Given the description of an element on the screen output the (x, y) to click on. 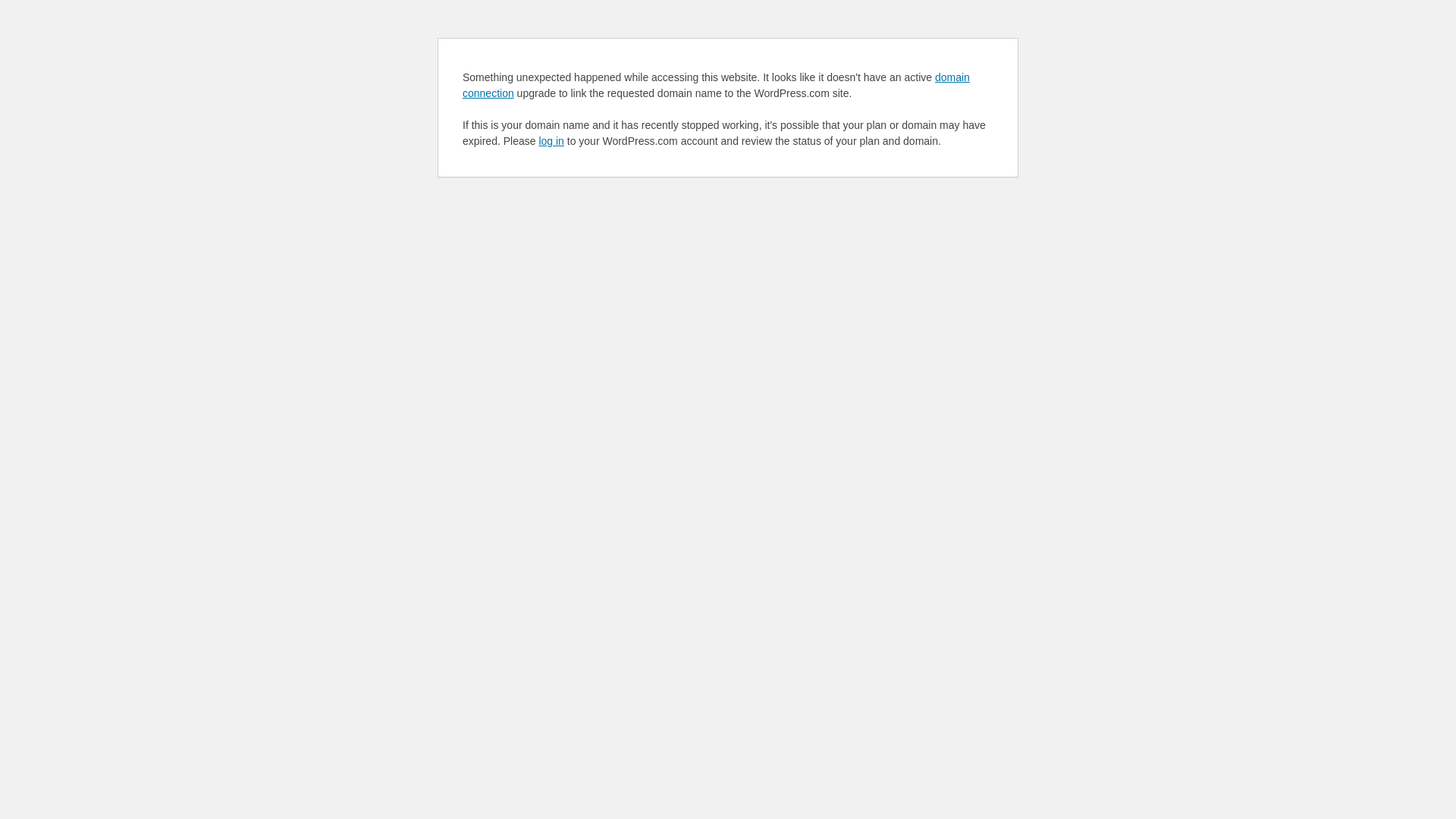
domain connection Element type: text (715, 85)
log in Element type: text (550, 140)
